Given the description of an element on the screen output the (x, y) to click on. 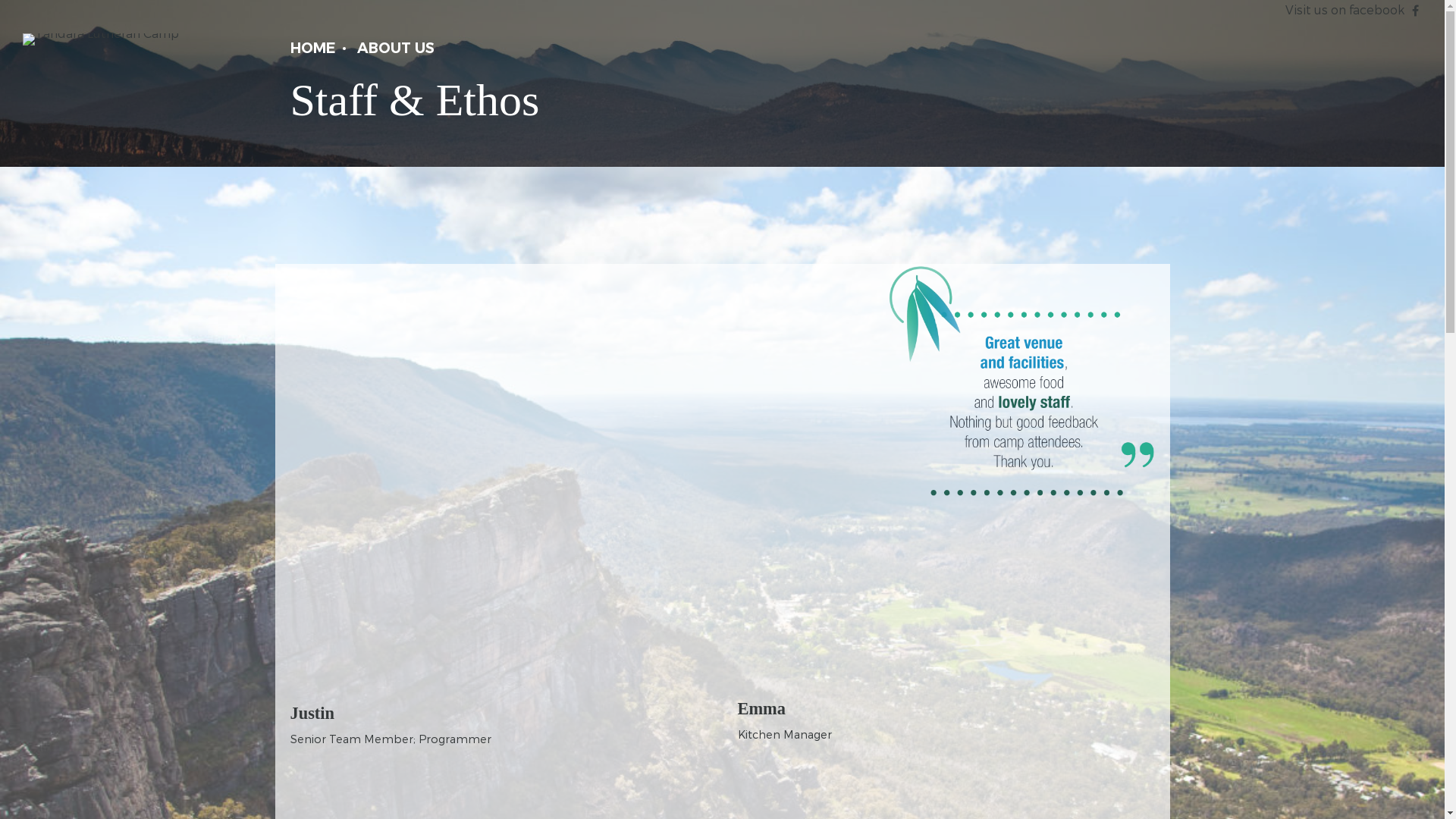
Visit us on facebook Element type: text (1344, 9)
HOME Element type: text (311, 47)
ABOUT US Element type: text (394, 47)
